Given the description of an element on the screen output the (x, y) to click on. 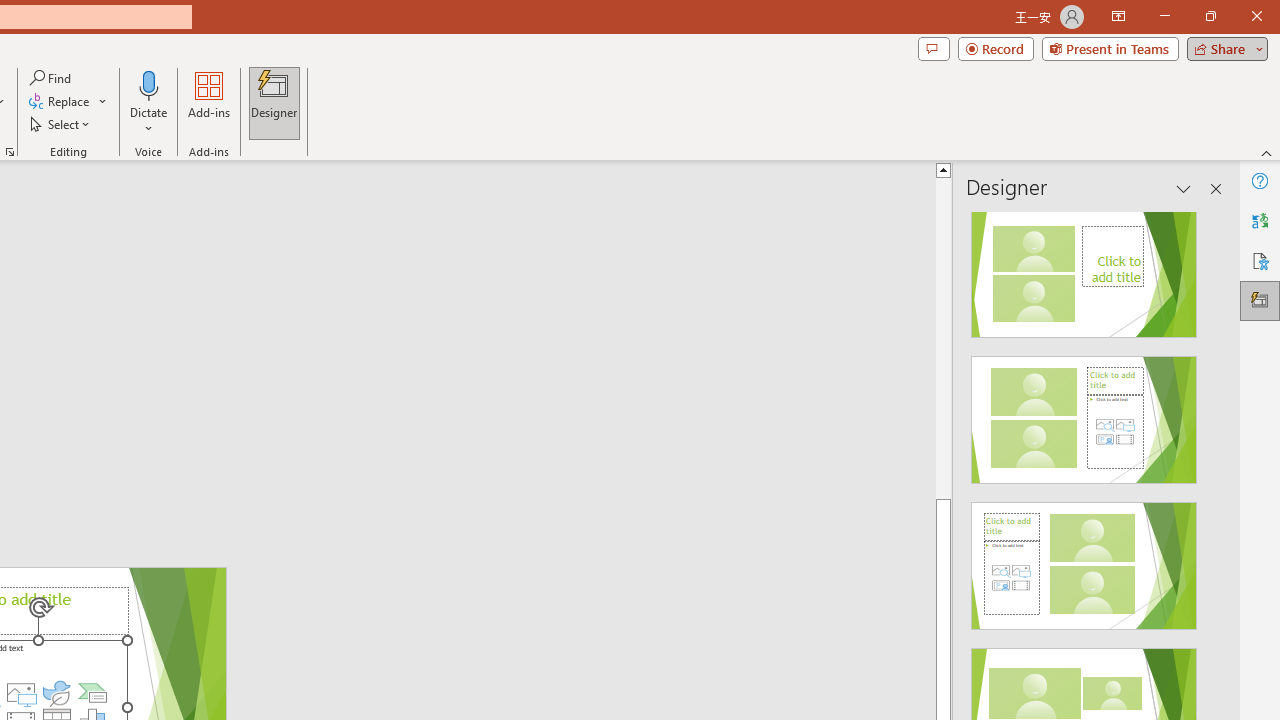
Recommended Design: Design Idea (1083, 268)
